Given the description of an element on the screen output the (x, y) to click on. 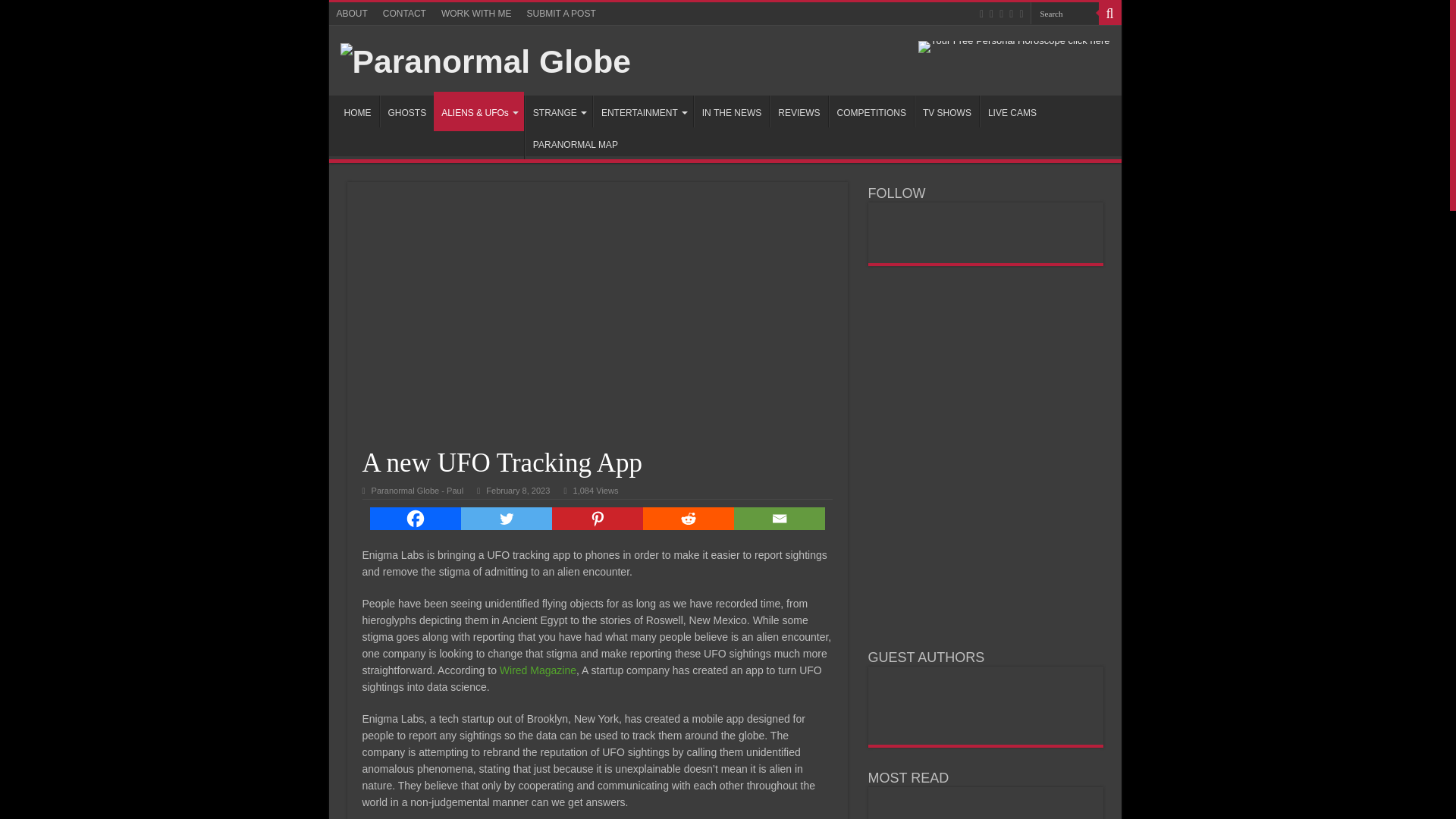
Search (1063, 13)
Search (1063, 13)
REVIEWS (798, 111)
STRANGE (558, 111)
Search (1109, 13)
IN THE NEWS (731, 111)
ABOUT (352, 13)
Rss (981, 13)
TV SHOWS (946, 111)
SUBMIT A POST (561, 13)
Paranormal Globe - Paul (417, 490)
PARANORMAL MAP (575, 142)
LIVE CAMS (1011, 111)
Youtube (1010, 13)
